Given the description of an element on the screen output the (x, y) to click on. 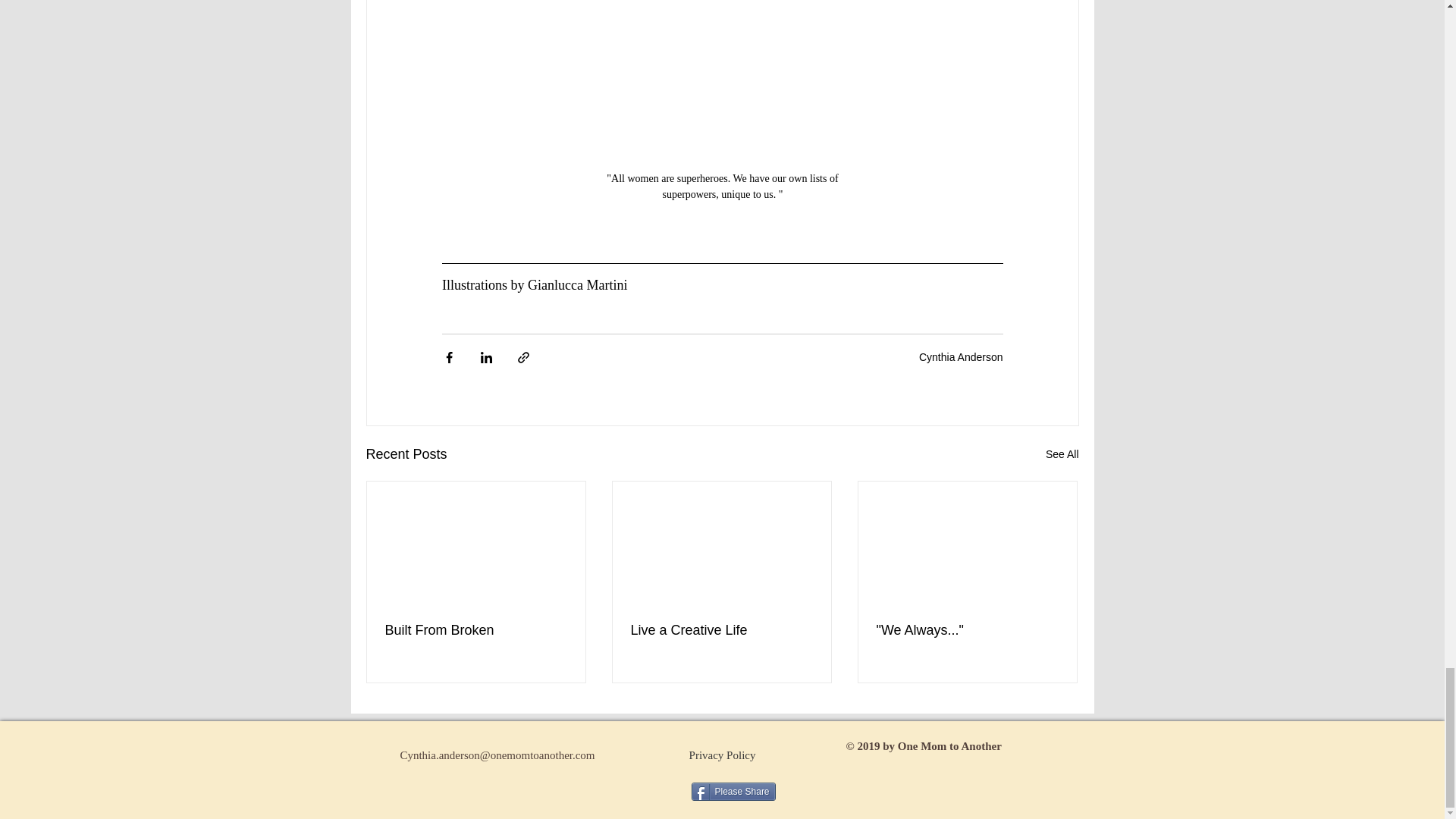
Please Share (733, 791)
Privacy Policy (722, 755)
Cynthia Anderson (960, 357)
Live a Creative Life (721, 630)
Built From Broken (476, 630)
"We Always..." (967, 630)
Please Share (733, 791)
See All (1061, 454)
